Given the description of an element on the screen output the (x, y) to click on. 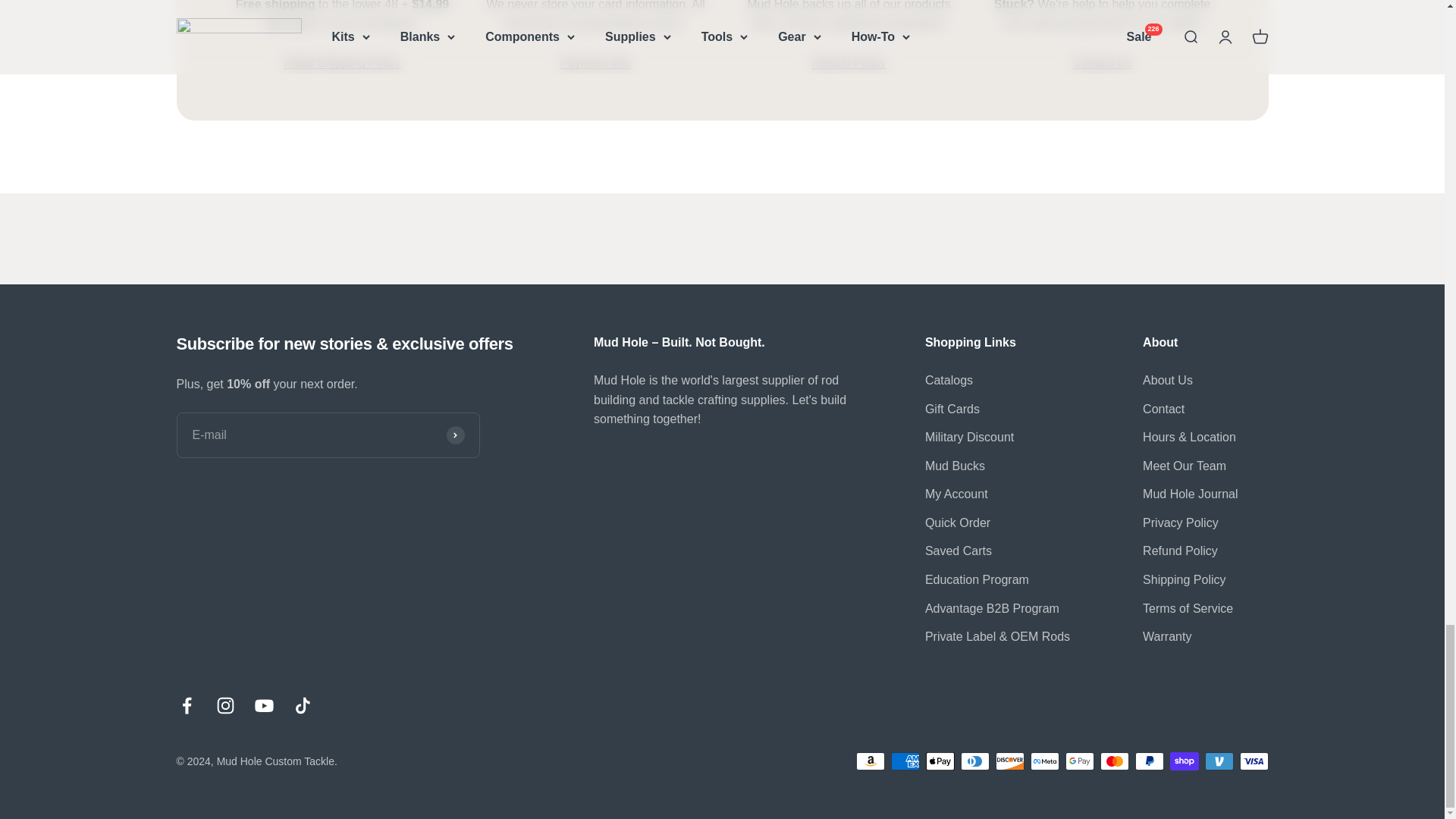
Shipping Policy (342, 62)
Contact Us (1101, 72)
Refund Policy (848, 72)
Terms of Service (594, 72)
